Given the description of an element on the screen output the (x, y) to click on. 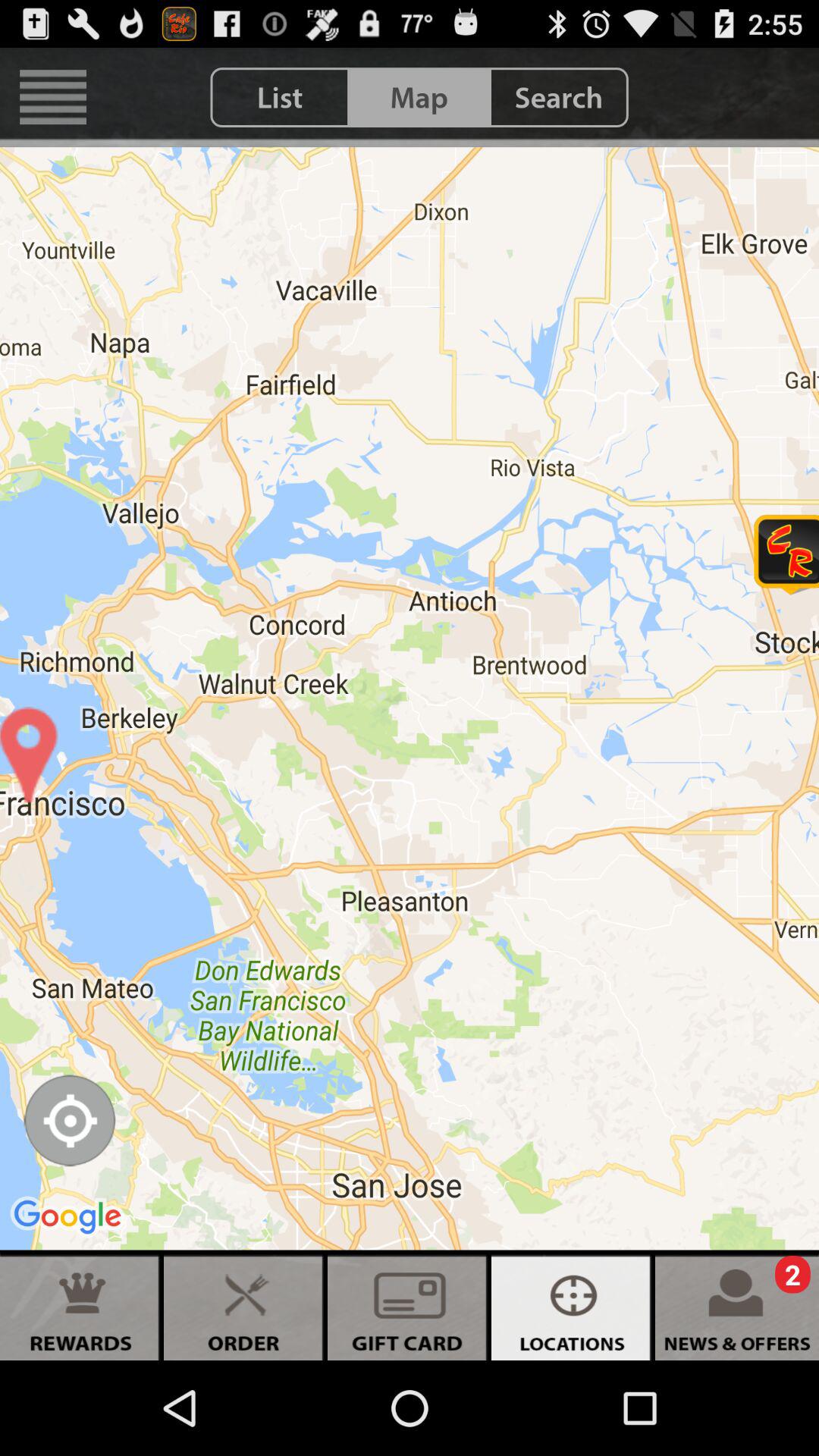
tap the icon below the list item (409, 698)
